Given the description of an element on the screen output the (x, y) to click on. 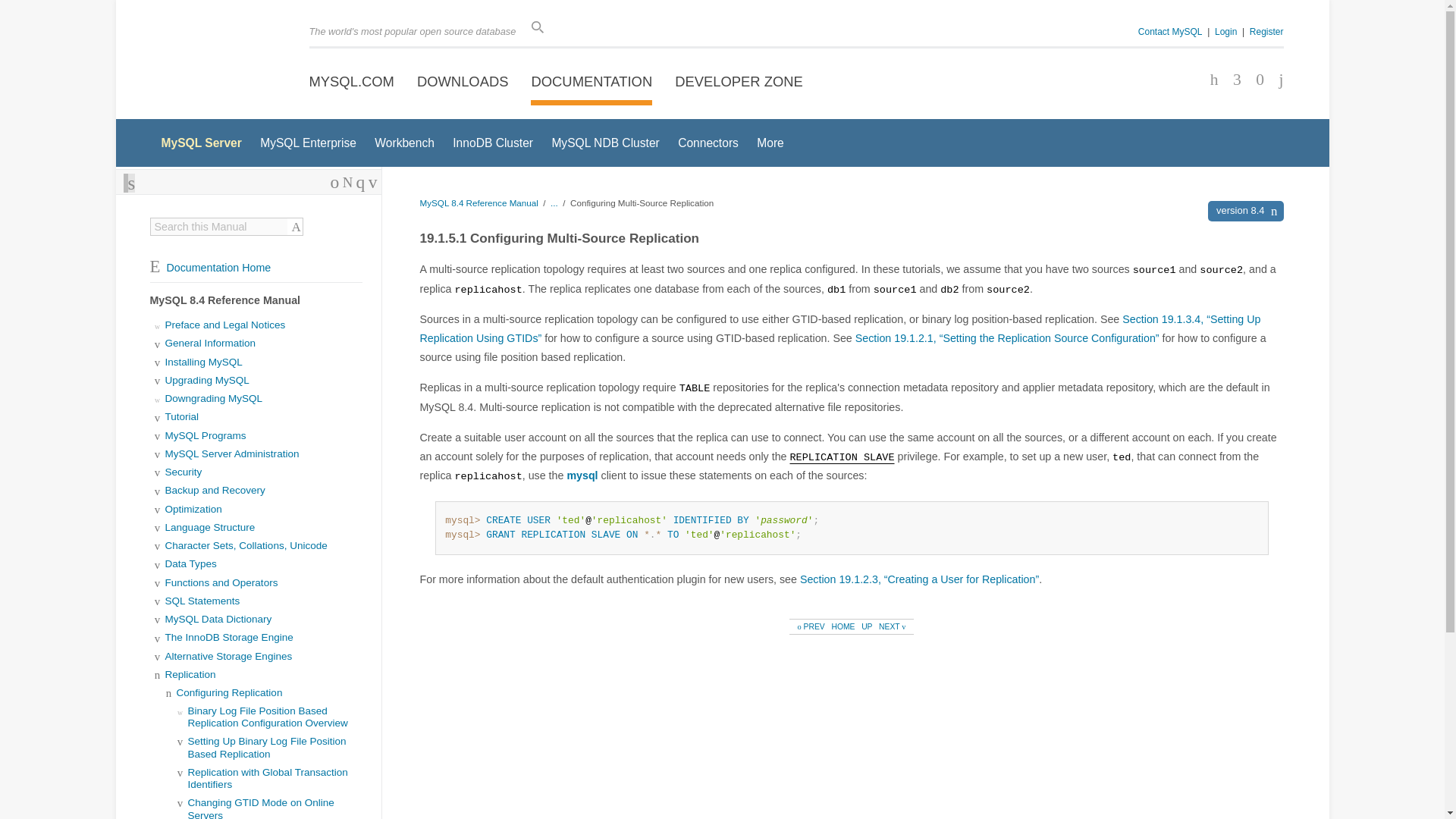
MySQL (214, 60)
DEVELOPER ZONE (739, 81)
Workbench (403, 142)
Follow us on X (1231, 80)
Connectors (708, 142)
Contact MySQL (1170, 31)
DOWNLOADS (462, 81)
MySQL NDB Cluster (605, 142)
Preface and Legal Notices (225, 324)
Login (1225, 31)
Documentation Home (209, 267)
General Information (210, 342)
DOCUMENTATION (591, 81)
MYSQL.COM (351, 81)
